Given the description of an element on the screen output the (x, y) to click on. 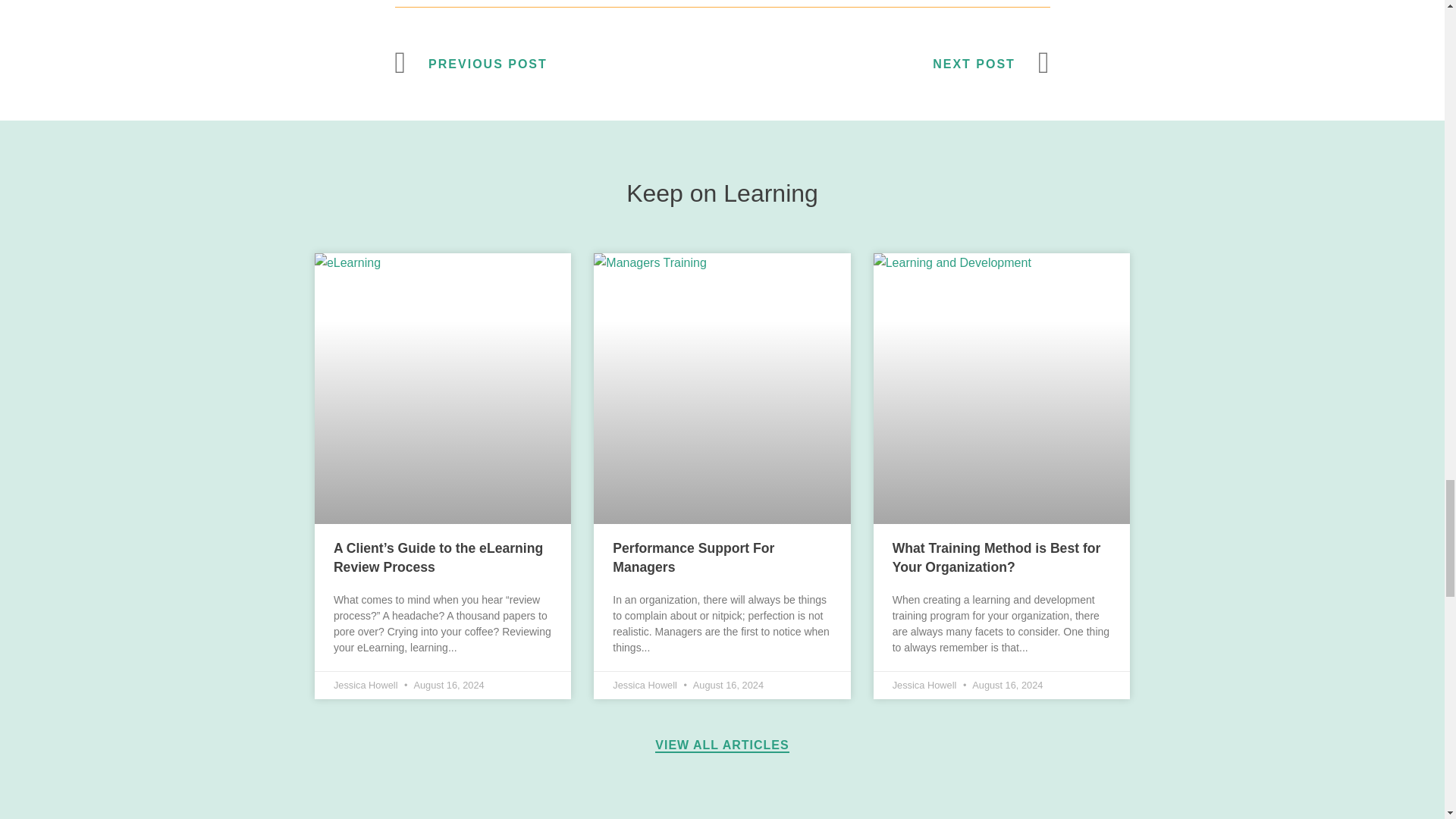
PREVIOUS POST (558, 64)
VIEW ALL ARTICLES (722, 745)
What Training Method is Best for Your Organization? (996, 557)
Performance Support For Managers (693, 557)
NEXT POST (885, 64)
